Given the description of an element on the screen output the (x, y) to click on. 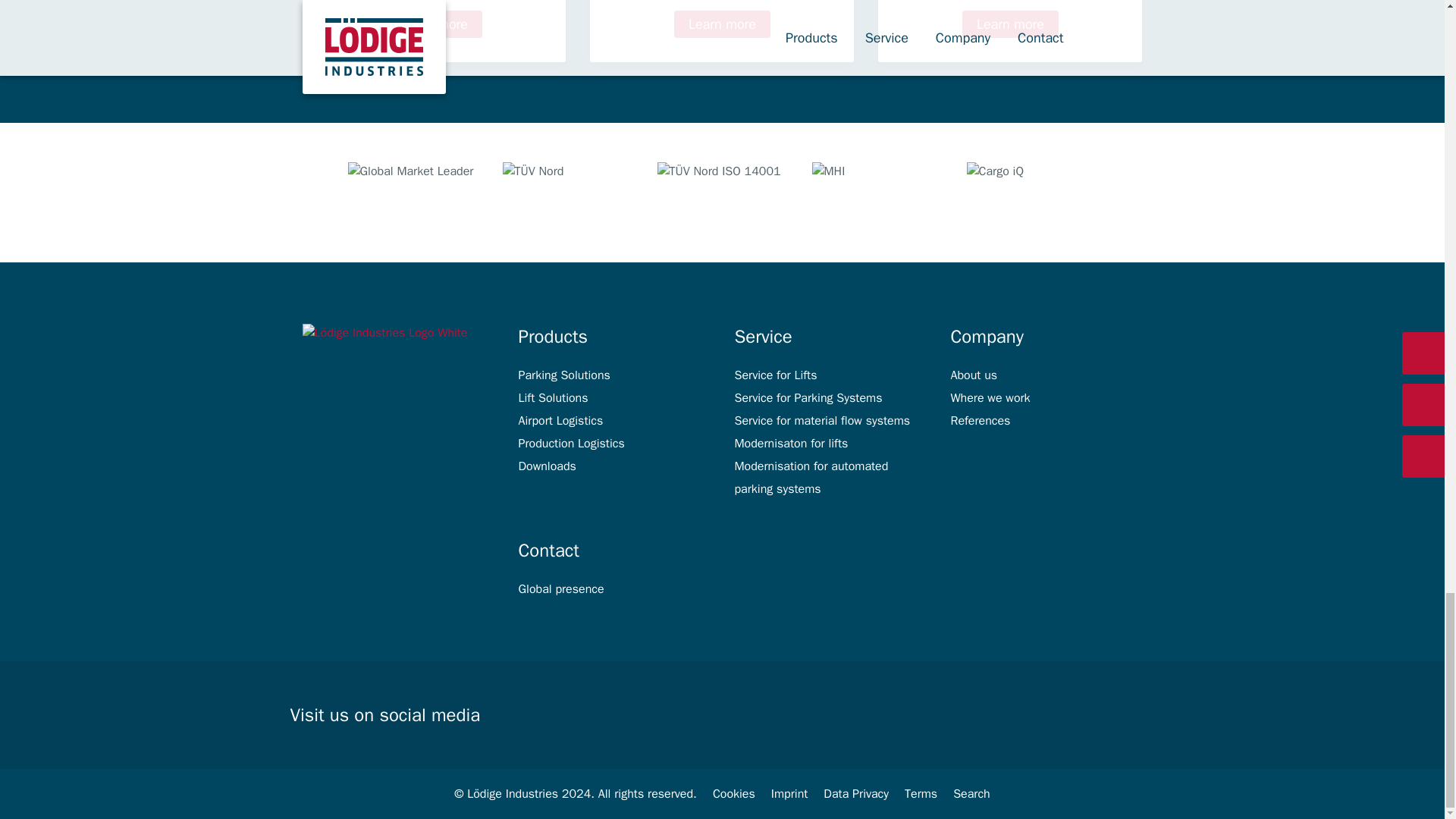
Cargo iQ (1031, 192)
Global Market Leader (412, 192)
MHI (876, 192)
